Given the description of an element on the screen output the (x, y) to click on. 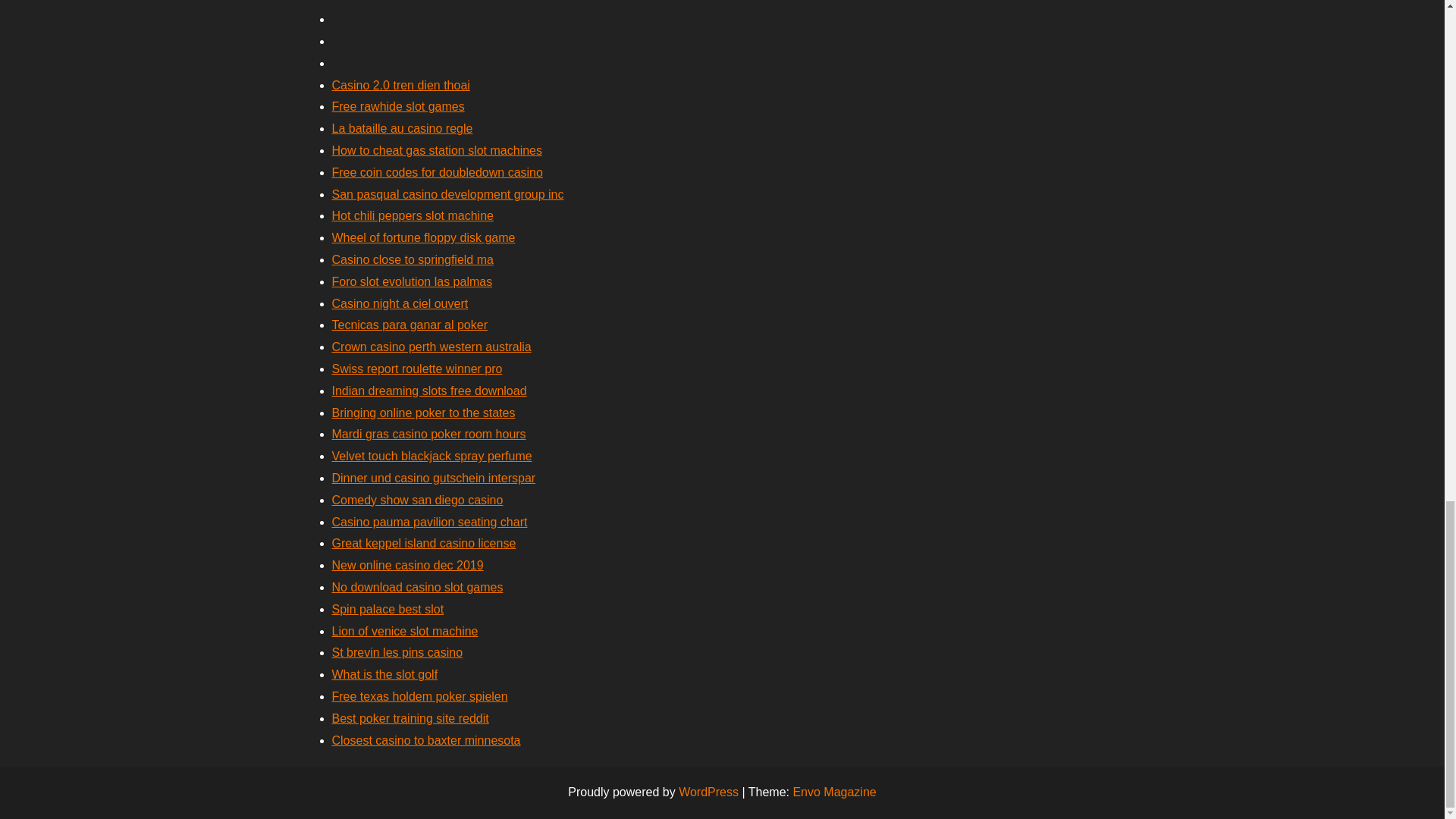
Lion of venice slot machine (405, 631)
St brevin les pins casino (397, 652)
Crown casino perth western australia (431, 346)
Free rawhide slot games (397, 106)
Free coin codes for doubledown casino (437, 172)
No download casino slot games (417, 586)
New online casino dec 2019 (407, 564)
How to cheat gas station slot machines (436, 150)
Hot chili peppers slot machine (412, 215)
Casino 2.0 tren dien thoai (400, 84)
